Given the description of an element on the screen output the (x, y) to click on. 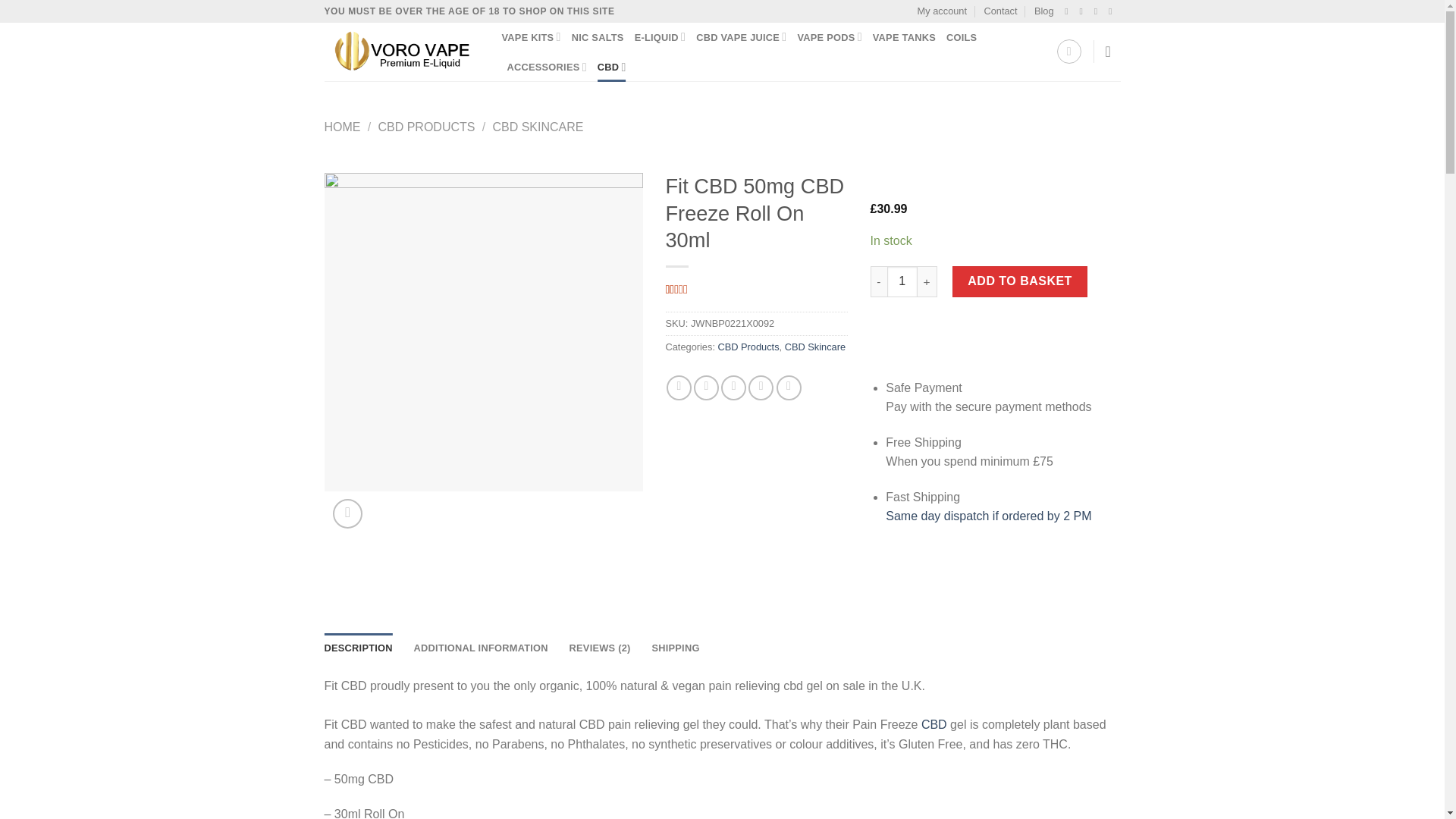
My account (941, 11)
Zoom (347, 513)
COILS (961, 37)
1 (901, 281)
CBD (611, 66)
CBD (934, 724)
Share on LinkedIn (789, 387)
Contact (1000, 11)
E-LIQUID (659, 36)
ACCESSORIES (546, 66)
JWNBP0221X0092.jpg (483, 331)
VAPE KITS (531, 36)
NIC SALTS (598, 37)
Voro Vape - Premium E-Liquid (401, 51)
Share on Twitter (706, 387)
